Given the description of an element on the screen output the (x, y) to click on. 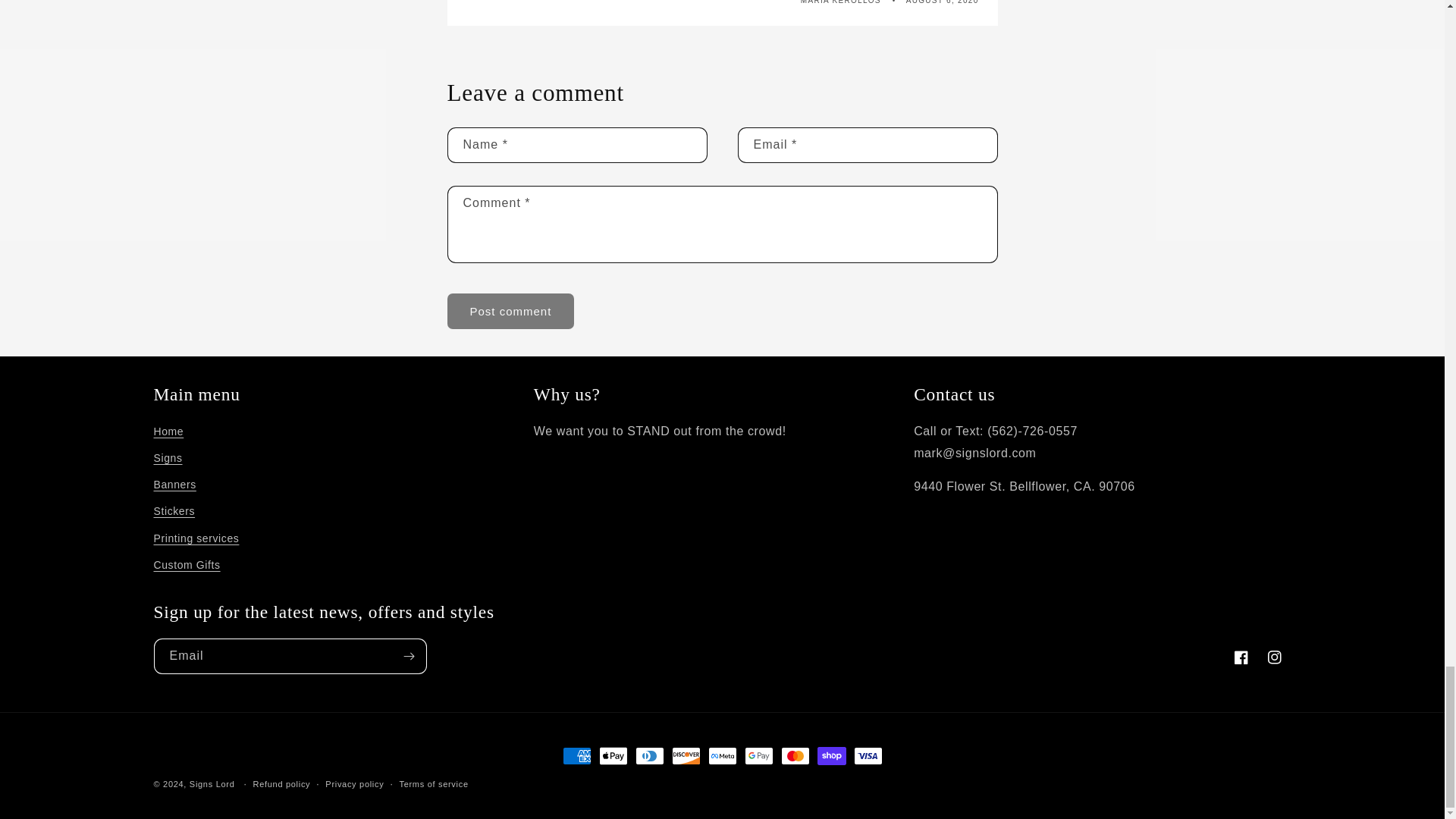
Signs (167, 458)
Post comment (510, 311)
Home (167, 433)
Post comment (510, 311)
